Given the description of an element on the screen output the (x, y) to click on. 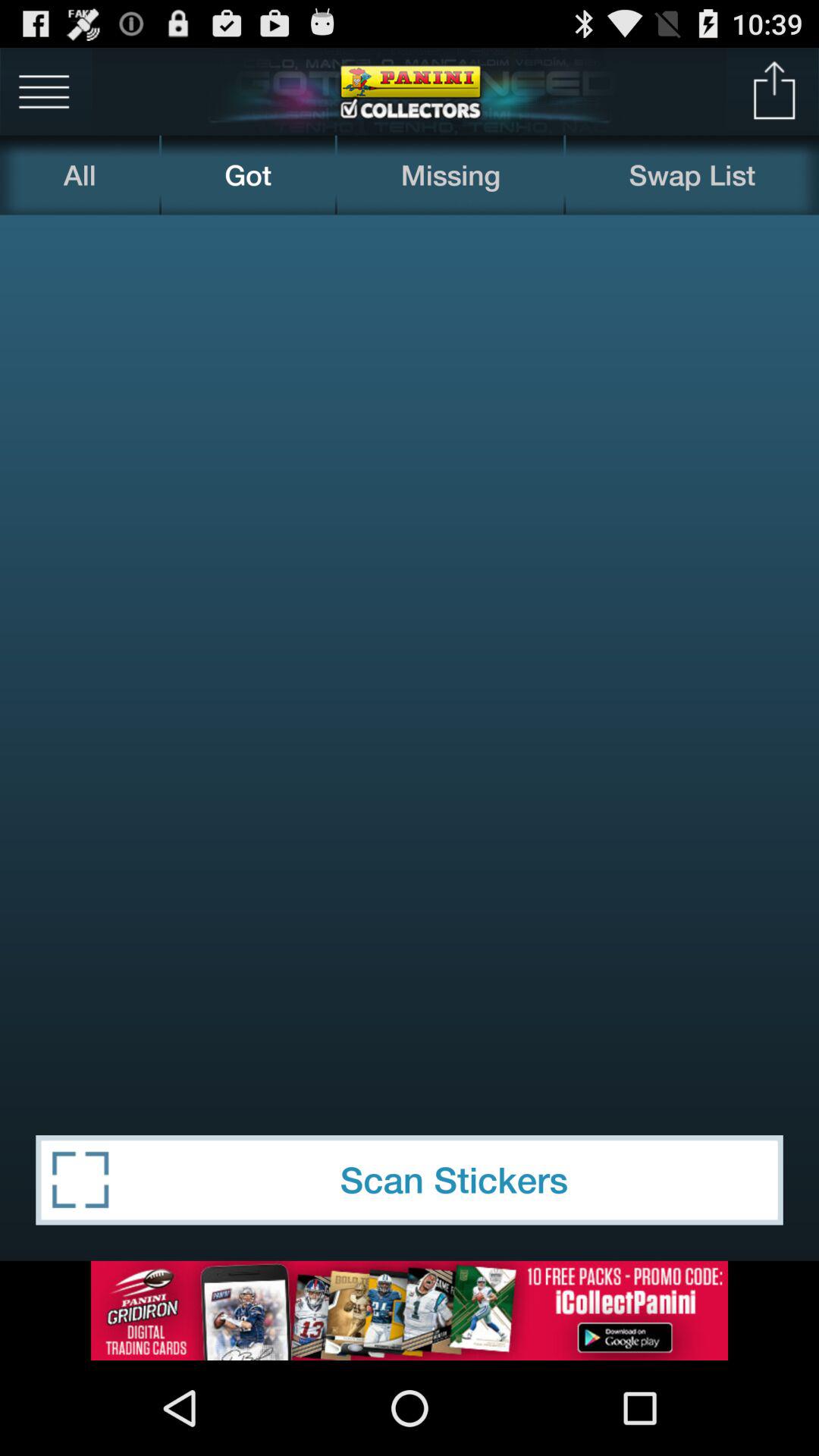
press swap list (692, 174)
